Given the description of an element on the screen output the (x, y) to click on. 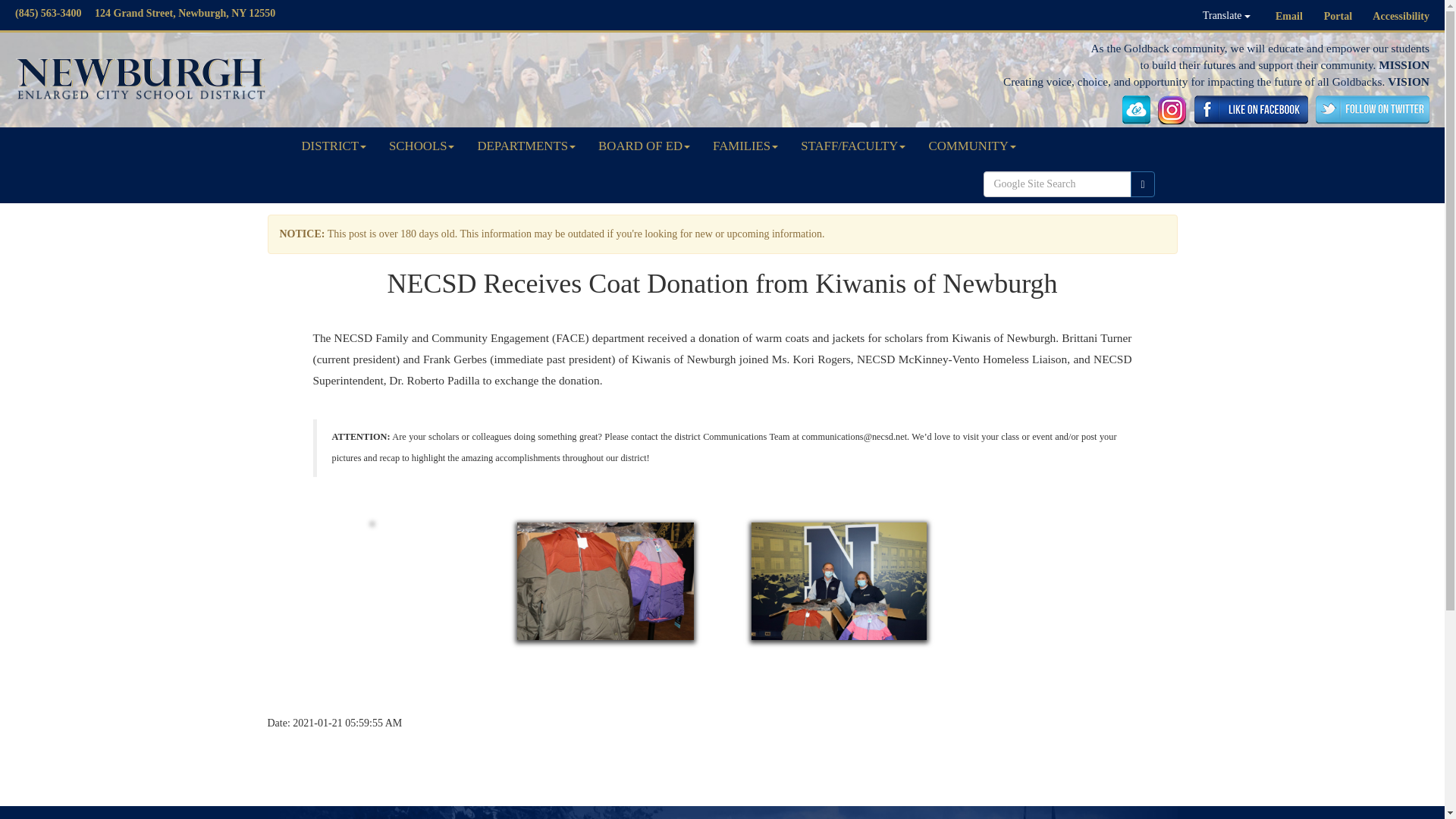
Email (1289, 16)
SCHOOLS (421, 146)
Portal (1337, 16)
Accessibility (1401, 16)
Translate (1226, 15)
DISTRICT (333, 146)
